Given the description of an element on the screen output the (x, y) to click on. 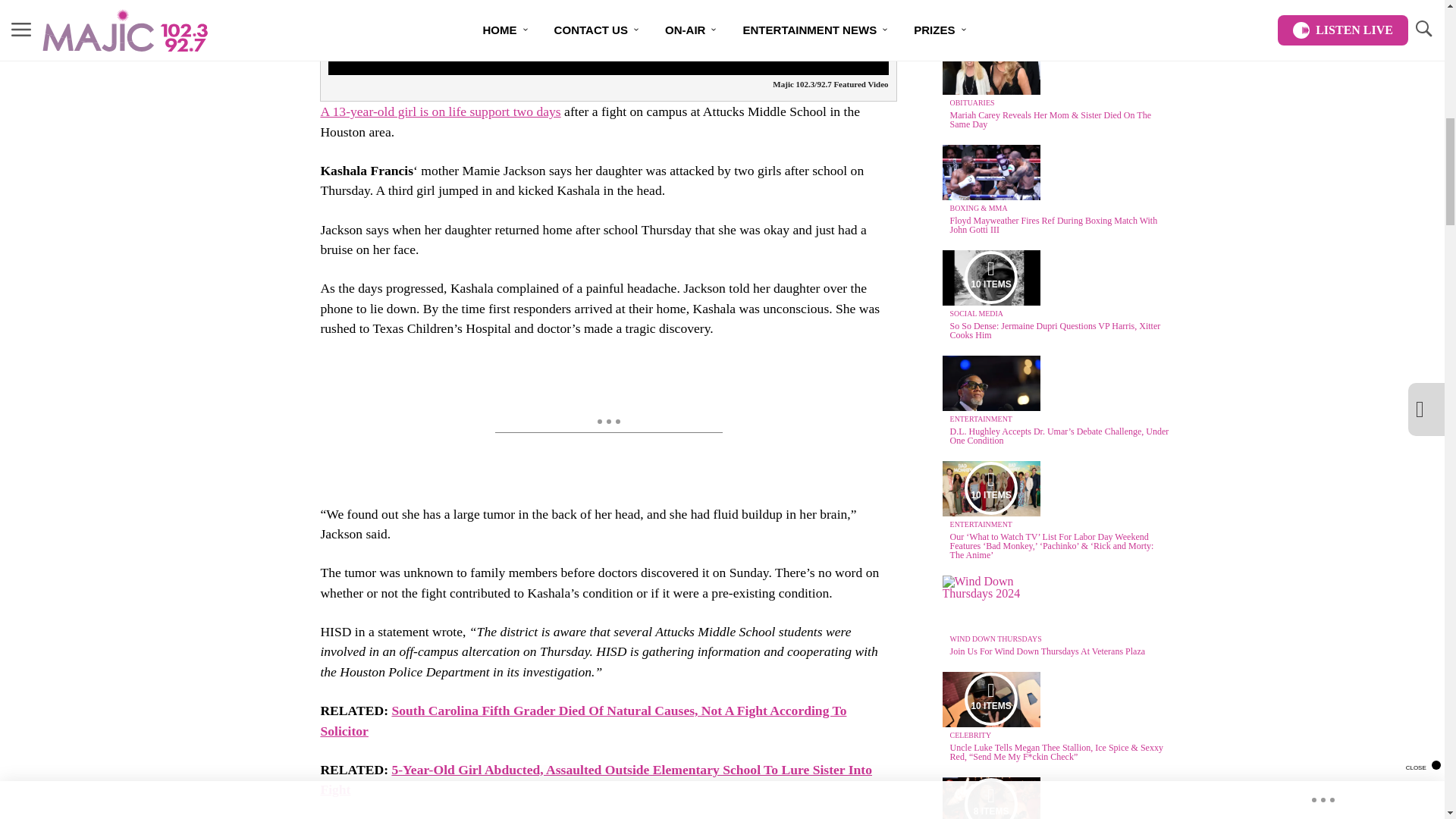
Media Playlist (990, 698)
A 13-year-old girl is on life support two days (440, 111)
Media Playlist (990, 798)
Media Playlist (990, 276)
Media Playlist (990, 488)
